Given the description of an element on the screen output the (x, y) to click on. 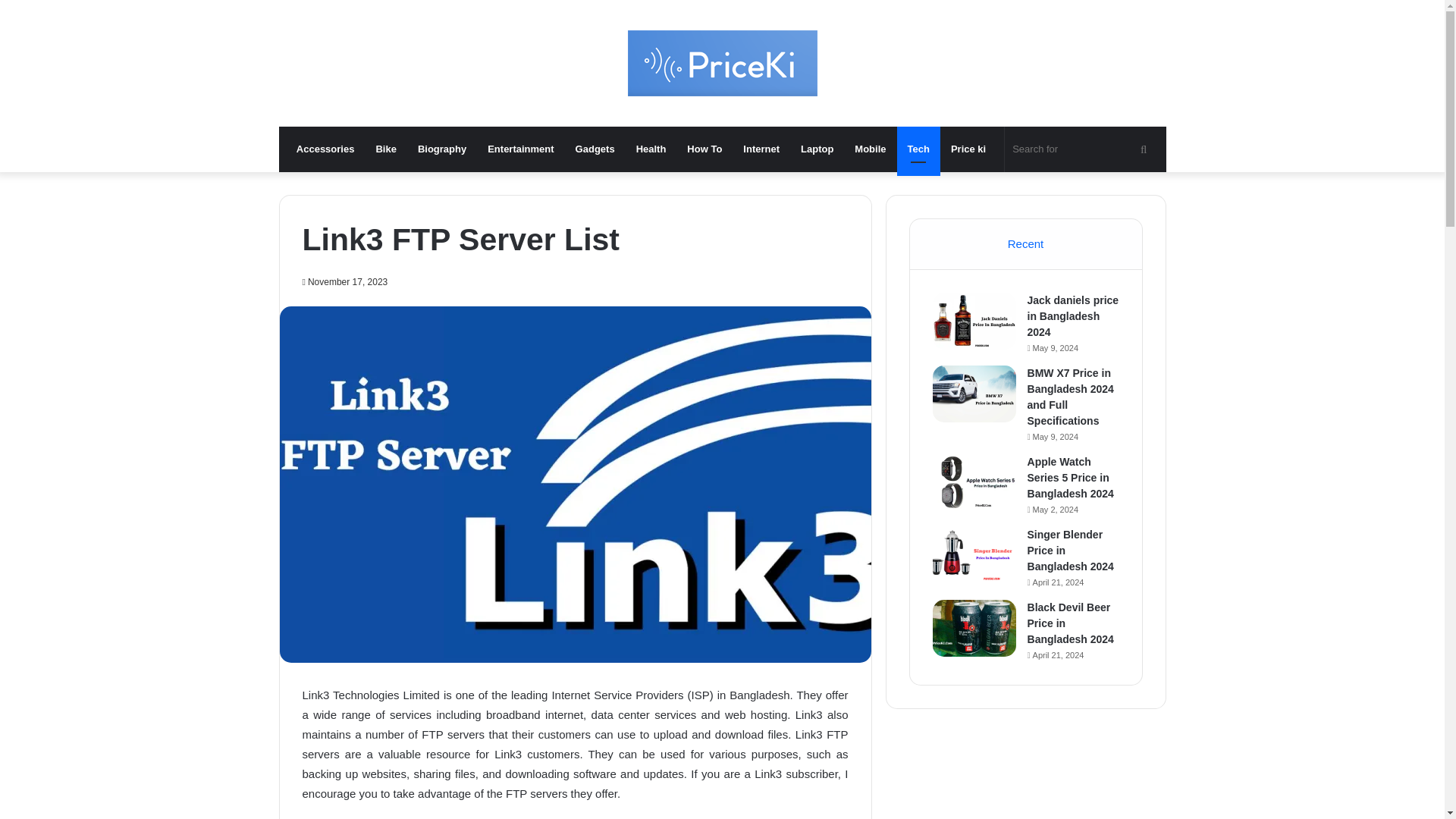
Price ki (967, 148)
Price ki (721, 63)
Search for (1081, 148)
Gadgets (595, 148)
Laptop (817, 148)
Accessories (325, 148)
Internet (761, 148)
Health (651, 148)
Entertainment (520, 148)
Bike (385, 148)
